Given the description of an element on the screen output the (x, y) to click on. 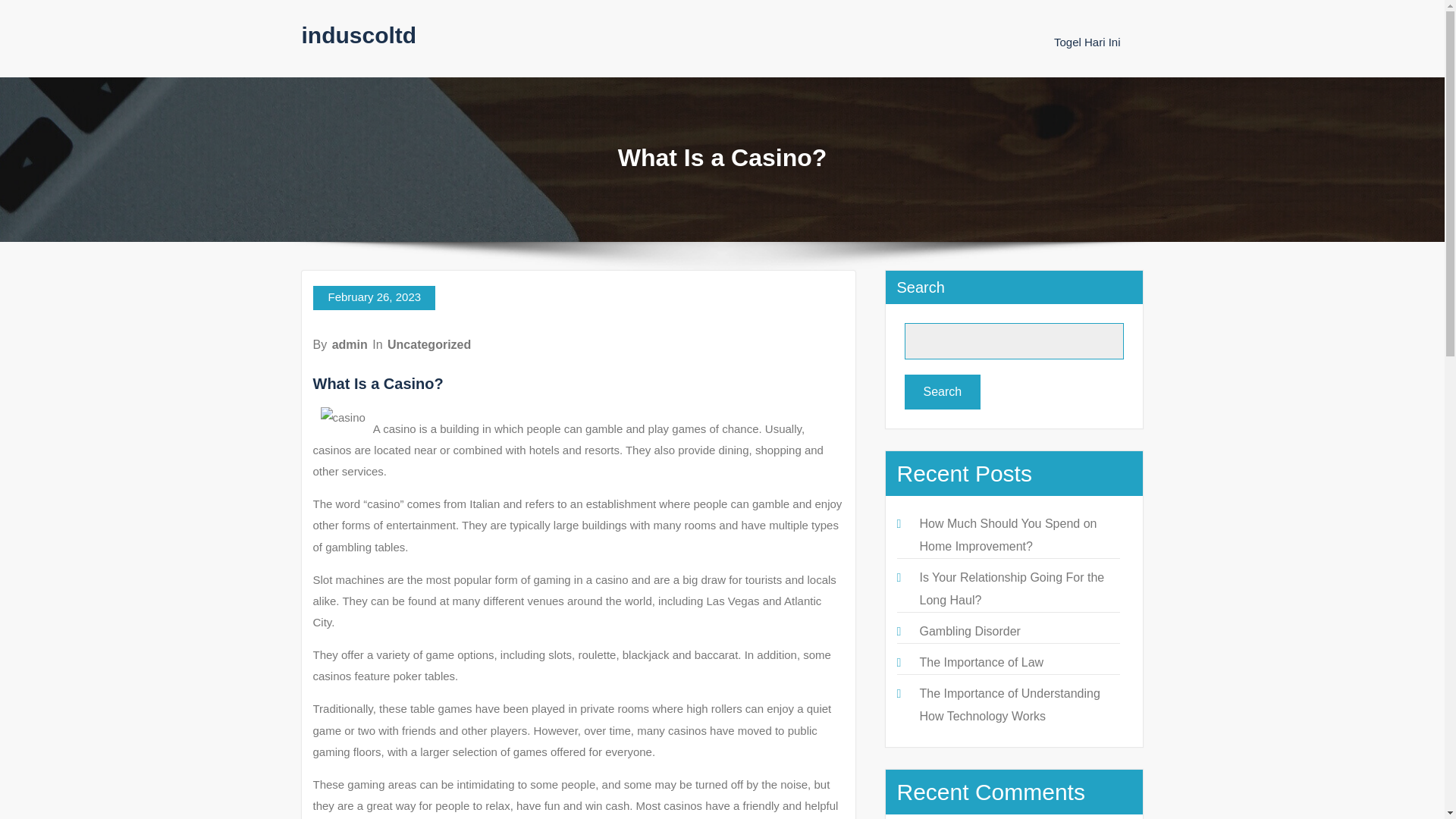
Togel Hari Ini (1087, 41)
February 26, 2023 (374, 297)
Search (941, 391)
Is Your Relationship Going For the Long Haul? (1010, 588)
The Importance of Law (980, 662)
How Much Should You Spend on Home Improvement? (1007, 534)
induscoltd (358, 34)
Uncategorized (428, 344)
Gambling Disorder (969, 631)
The Importance of Understanding How Technology Works (1008, 704)
admin (349, 344)
